Given the description of an element on the screen output the (x, y) to click on. 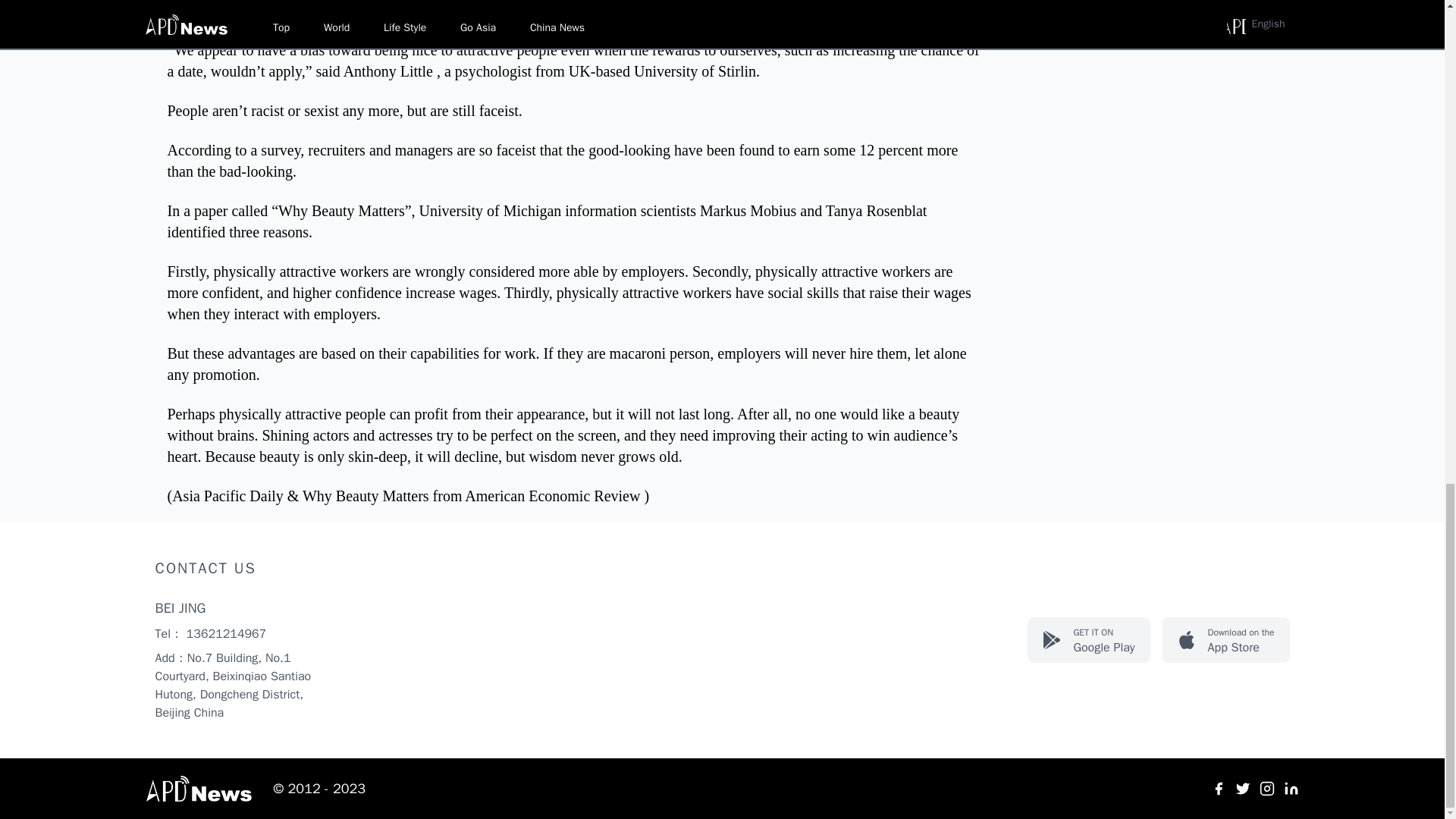
ww (1241, 788)
tt (1088, 639)
APDNews (1217, 788)
